Given the description of an element on the screen output the (x, y) to click on. 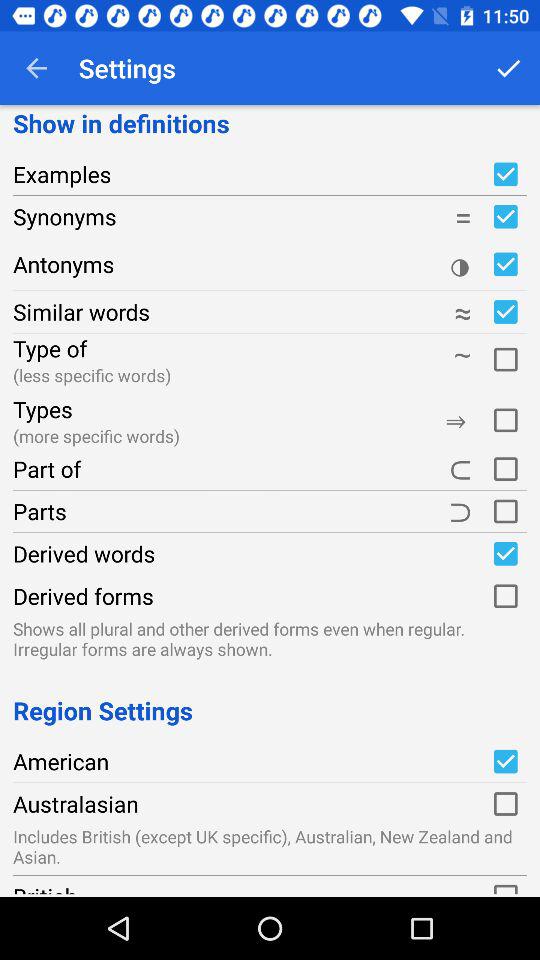
change the region setting (505, 761)
